Given the description of an element on the screen output the (x, y) to click on. 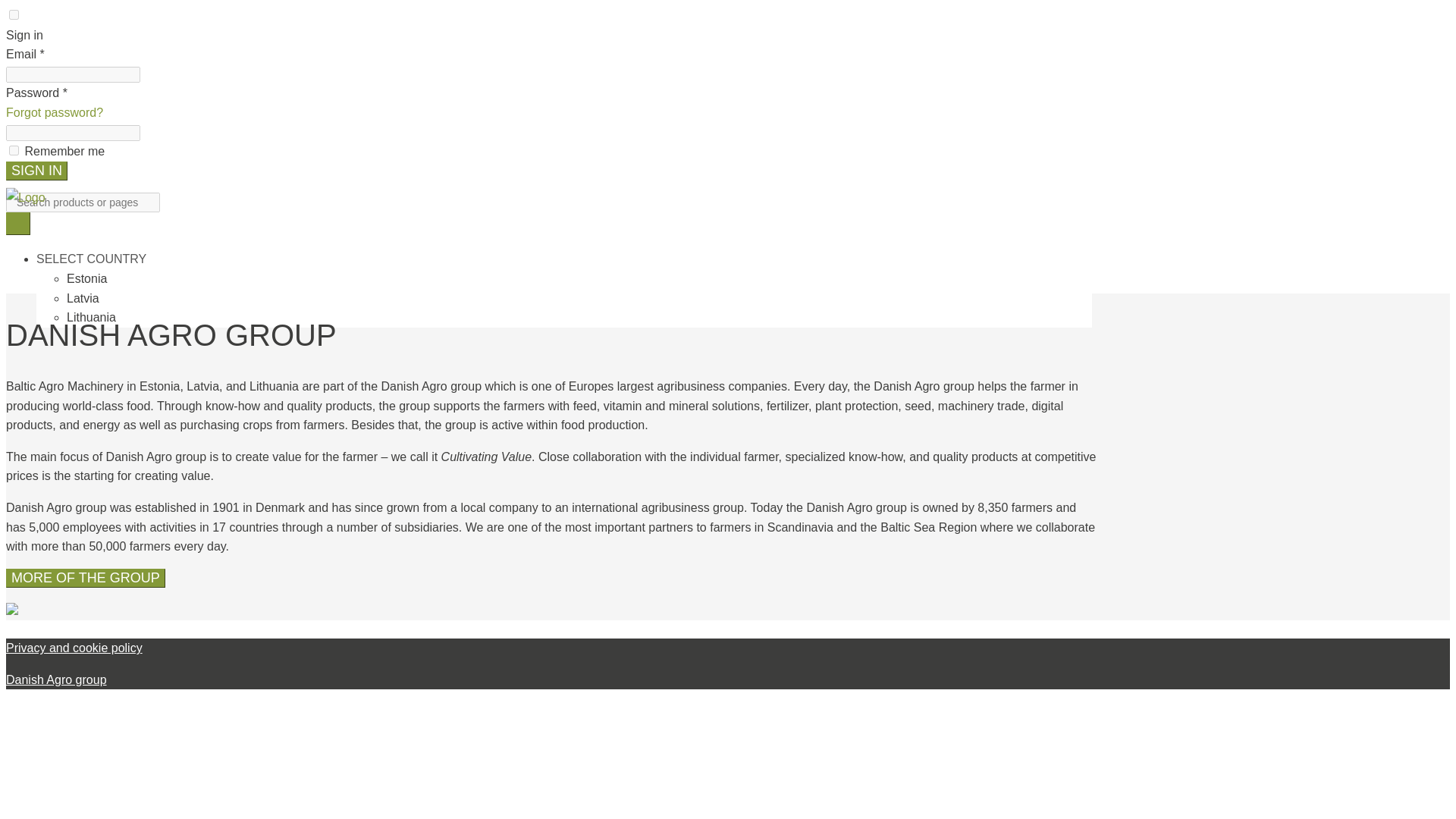
MORE OF THE GROUP (85, 578)
True (13, 150)
Latvia (82, 297)
More of the group (85, 578)
Forgot password? (54, 112)
Sign in (35, 170)
SELECT COUNTRY (91, 258)
Forgot password? (54, 112)
Search (17, 223)
SIGN IN (35, 170)
on (13, 14)
Estonia (86, 278)
Privacy and cookie policy (73, 647)
Lithuania (91, 317)
